Given the description of an element on the screen output the (x, y) to click on. 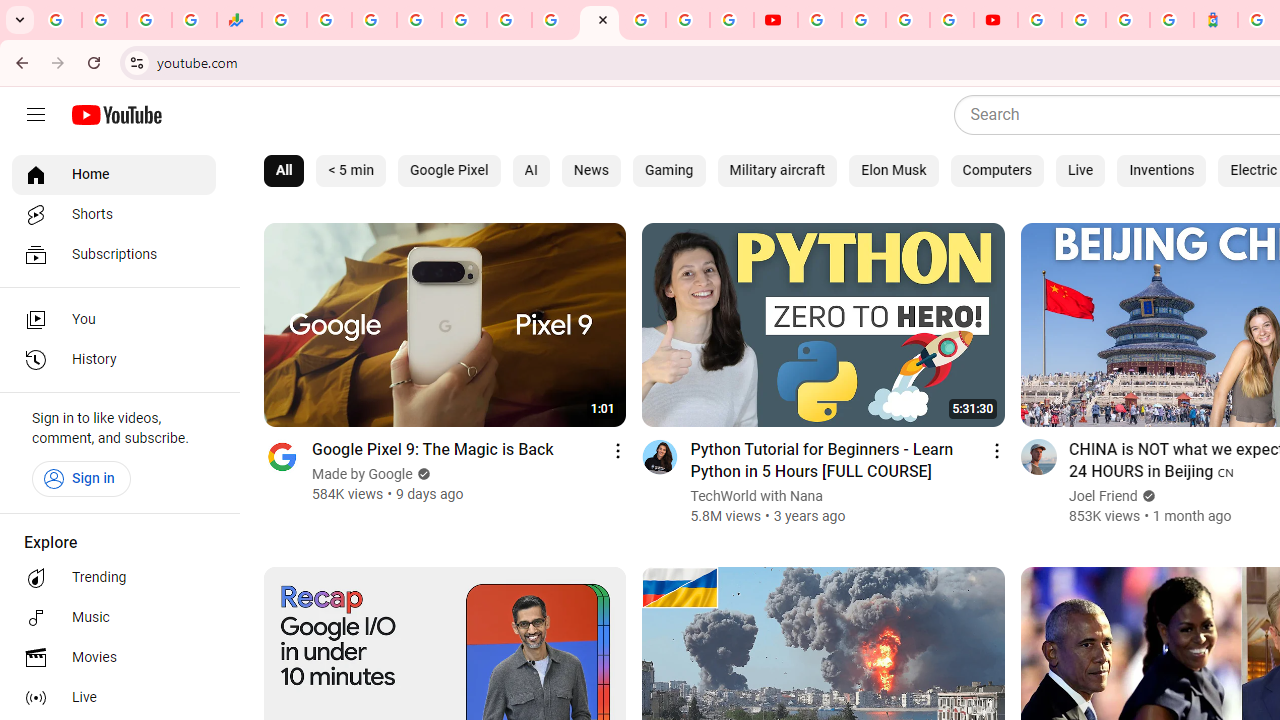
YouTube (775, 20)
